Given the description of an element on the screen output the (x, y) to click on. 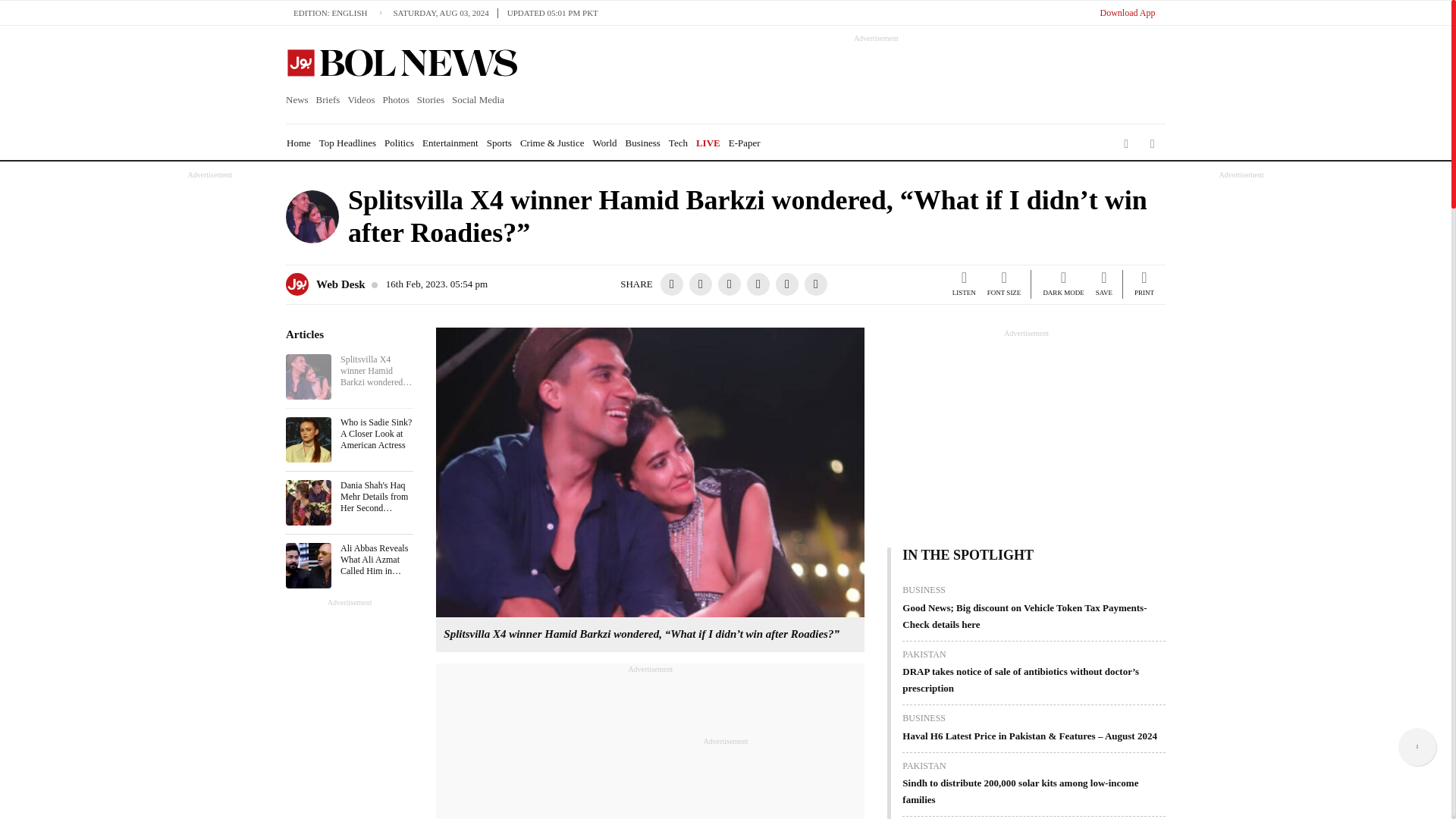
Briefs (328, 99)
Photos (395, 99)
Entertainment (450, 143)
Videos (360, 99)
Stories (430, 99)
SATURDAY, AUG 03, 2024 (445, 12)
Business (643, 143)
UPDATED 05:01 PM PKT (552, 12)
Top Headlines (346, 143)
Download App (1127, 12)
News (299, 99)
Social Media (478, 99)
